Given the description of an element on the screen output the (x, y) to click on. 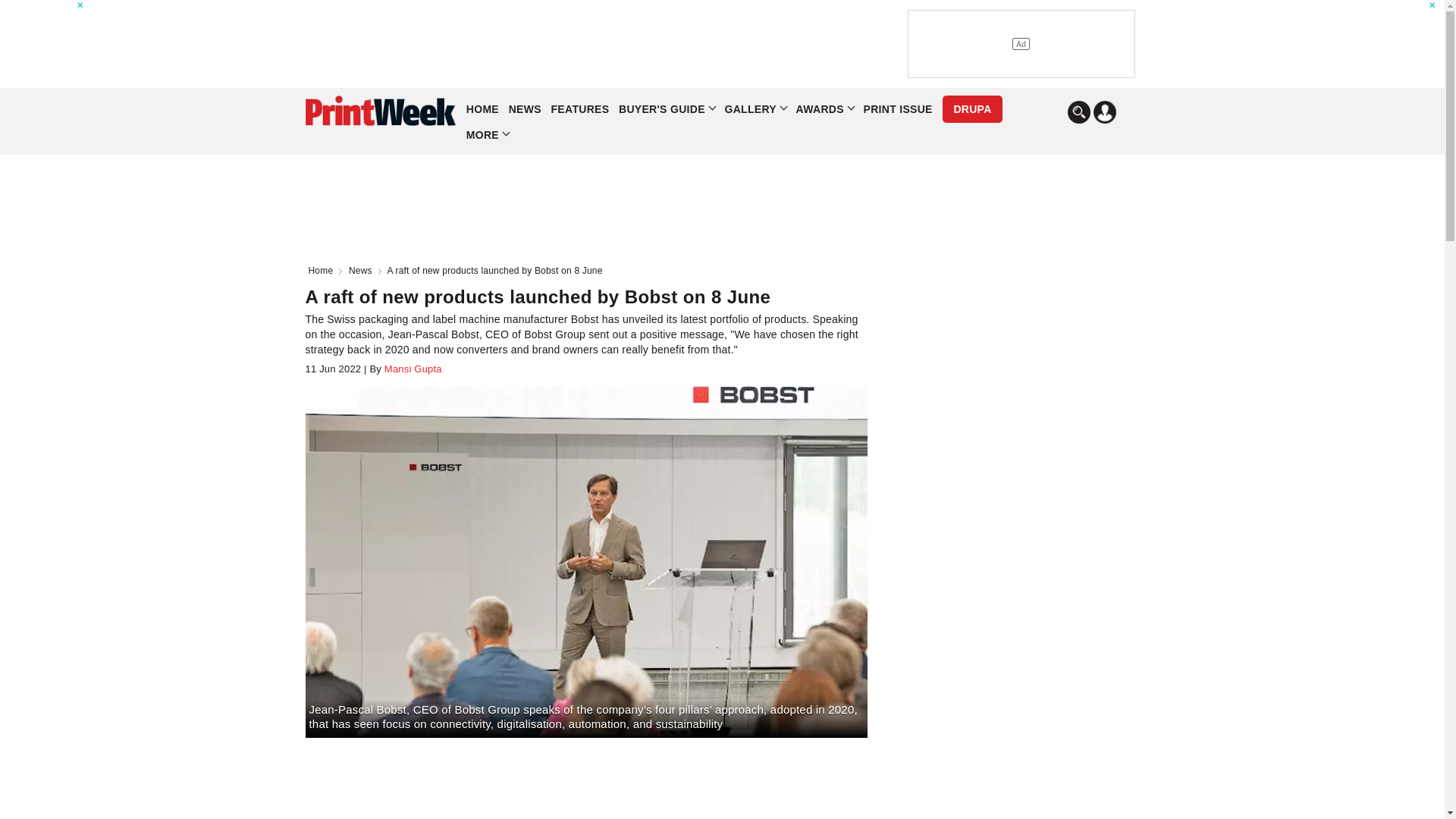
BUYER'S GUIDE (666, 109)
HOME (482, 109)
Mansi Gupta (411, 368)
Buyer's Guide (666, 109)
News (363, 270)
Search In PrintWeek India Website (1078, 111)
Print Issue (897, 109)
3rd party ad content (604, 43)
NEWS (524, 109)
GALLERY (754, 109)
AWARDS (825, 109)
FEATURES (580, 109)
PrintWeek Logo (379, 110)
Home (323, 270)
PRINT ISSUE (897, 109)
